Given the description of an element on the screen output the (x, y) to click on. 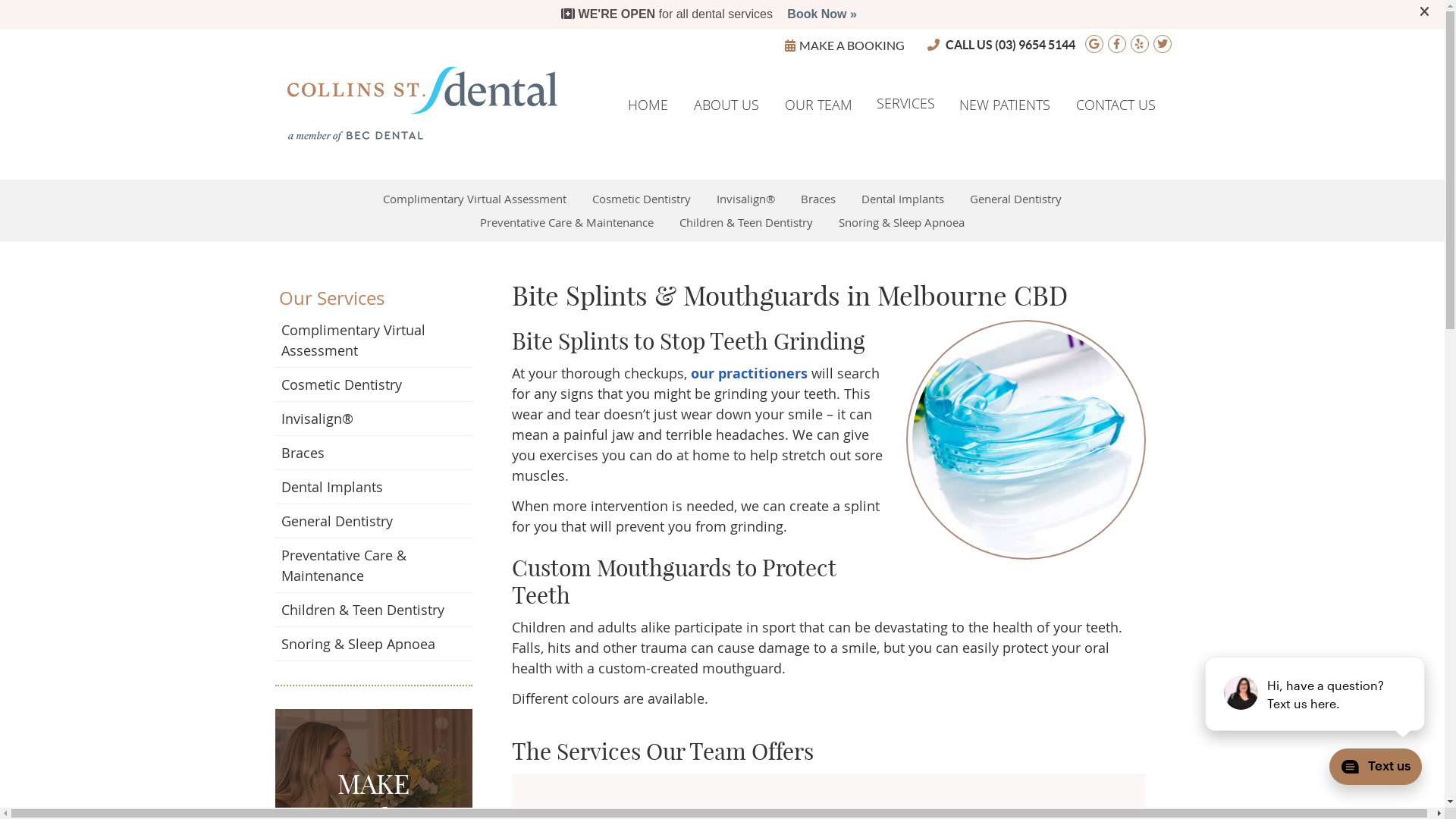
Google Social Button Element type: text (1093, 43)
HOME Element type: text (422, 103)
Preventative Care & Maintenance Element type: text (566, 221)
Twitter Social Button Element type: text (1161, 43)
our practitioners Element type: text (748, 373)
Cosmetic Dentistry Element type: text (641, 198)
Dental Implants Element type: text (902, 198)
Cosmetic Dentistry Element type: text (372, 384)
Preventative Care & Maintenance Element type: text (372, 565)
Children & Teen Dentistry Element type: text (746, 221)
MAKE A BOOKING Element type: text (843, 44)
NEW PATIENTS Element type: text (1004, 104)
Braces Element type: text (818, 198)
Snoring & Sleep Apnoea Element type: text (372, 644)
HOME Element type: text (647, 104)
Snoring & Sleep Apnoea Element type: text (901, 221)
Complimentary Virtual Assessment Element type: text (372, 340)
podium webchat widget prompt Element type: hover (1315, 693)
OUR TEAM Element type: text (818, 104)
General Dentistry Element type: text (1015, 198)
Braces Element type: text (372, 453)
Facebook Social Button Element type: text (1116, 43)
CONTACT US Element type: text (1115, 104)
podium webchat widget bubble Element type: hover (1368, 769)
General Dentistry Element type: text (372, 521)
Children & Teen Dentistry Element type: text (372, 610)
Complimentary Virtual Assessment Element type: text (474, 198)
ABOUT US Element type: text (725, 104)
Yelp Social Button Element type: text (1138, 43)
SERVICES Element type: text (905, 102)
(03) 9654 5144 Element type: text (1034, 44)
Dental Implants Element type: text (372, 487)
